Given the description of an element on the screen output the (x, y) to click on. 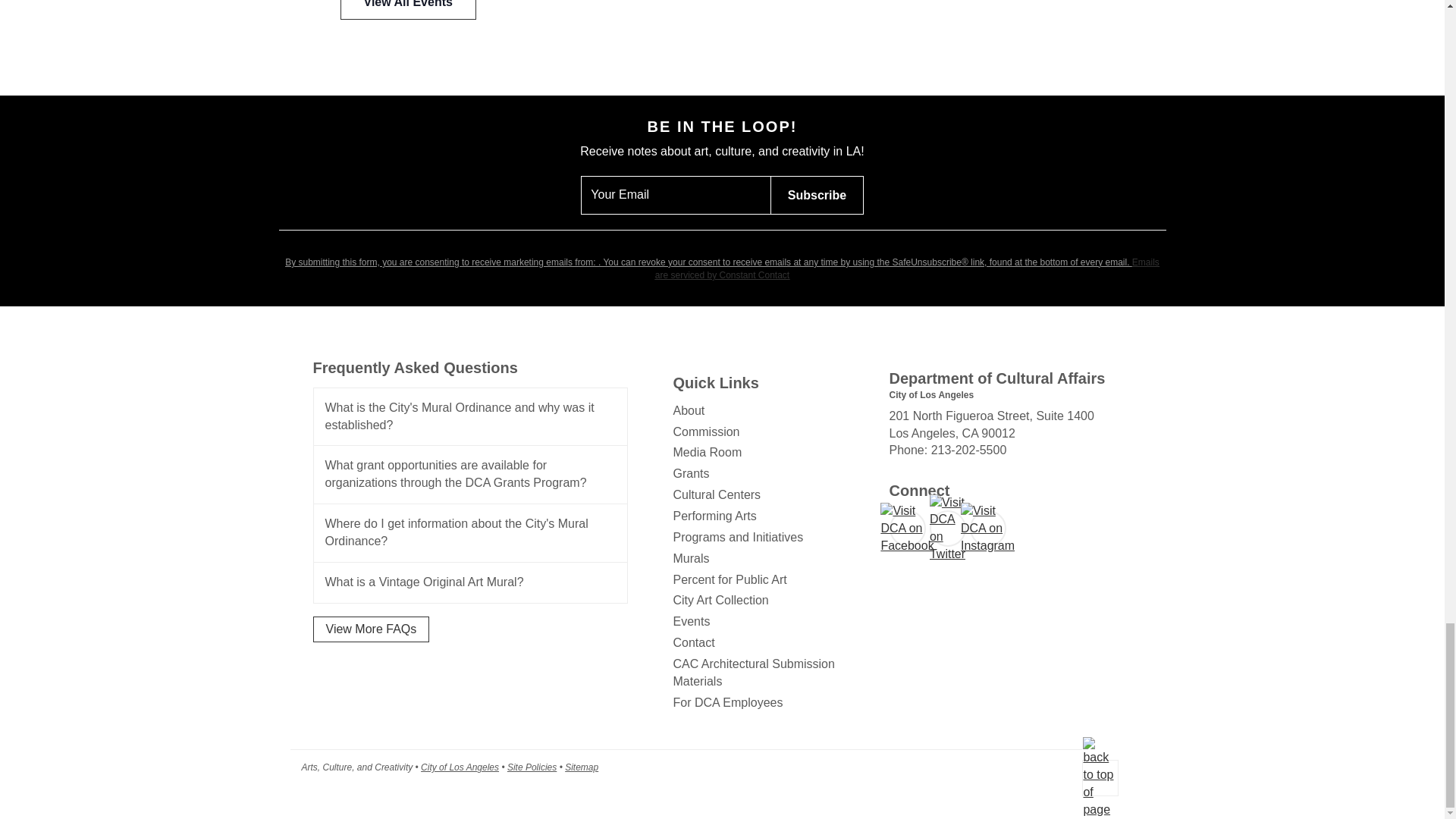
Subscribe (816, 195)
